Given the description of an element on the screen output the (x, y) to click on. 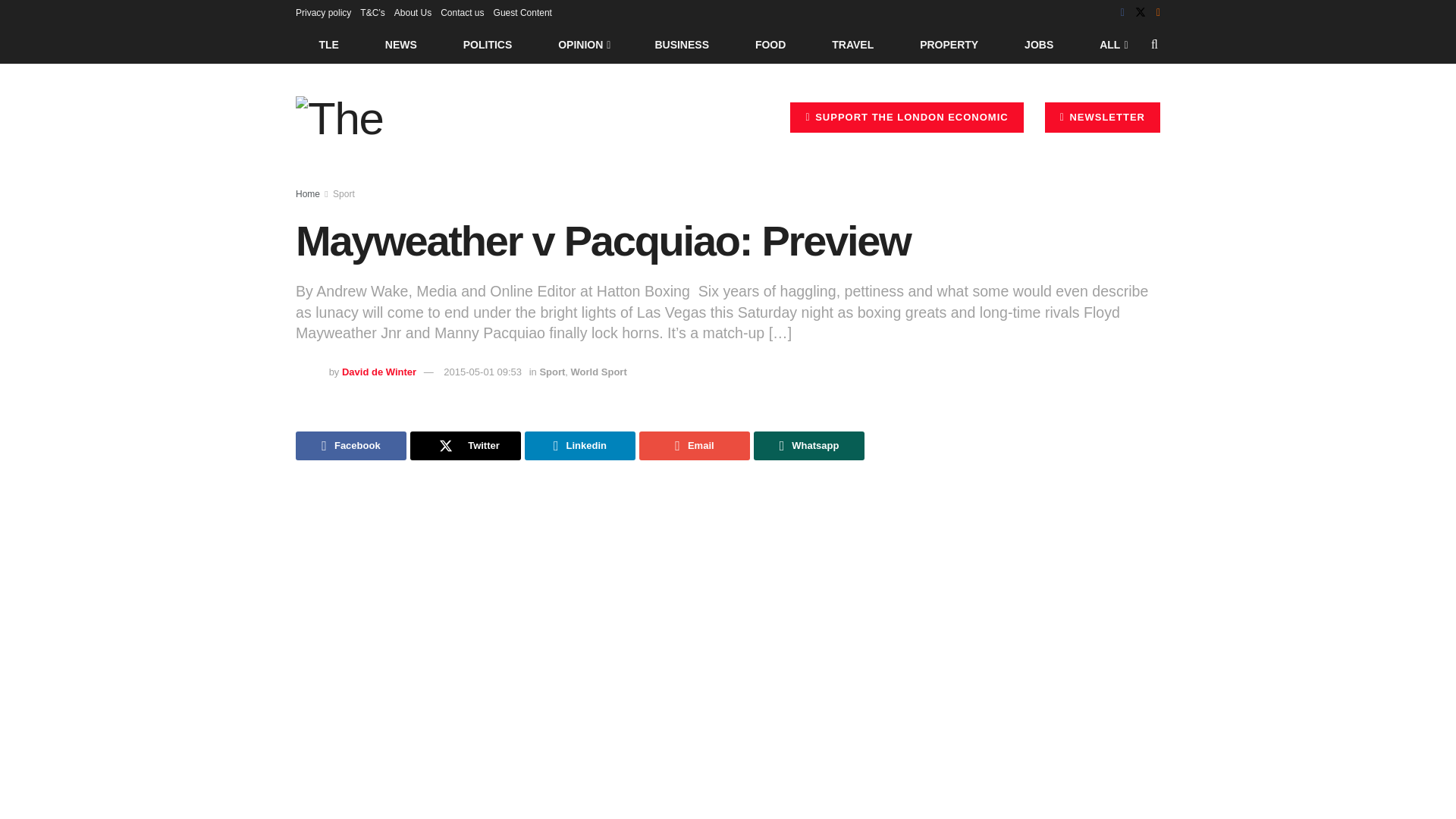
POLITICS (486, 44)
TRAVEL (852, 44)
Home (307, 194)
Privacy policy (322, 12)
About Us (412, 12)
TLE (328, 44)
BUSINESS (681, 44)
Contact us (462, 12)
PROPERTY (948, 44)
SUPPORT THE LONDON ECONOMIC (906, 117)
